Given the description of an element on the screen output the (x, y) to click on. 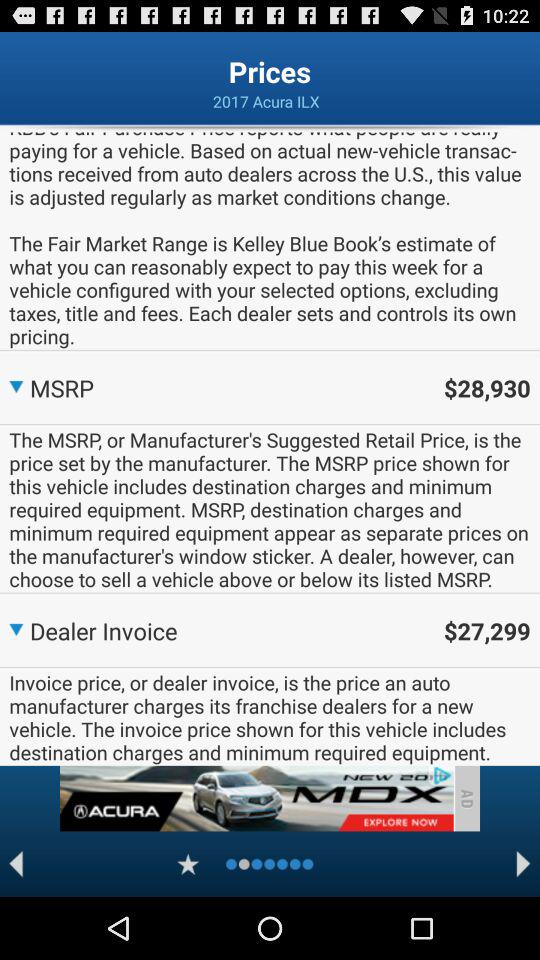
go to next page (523, 864)
